Given the description of an element on the screen output the (x, y) to click on. 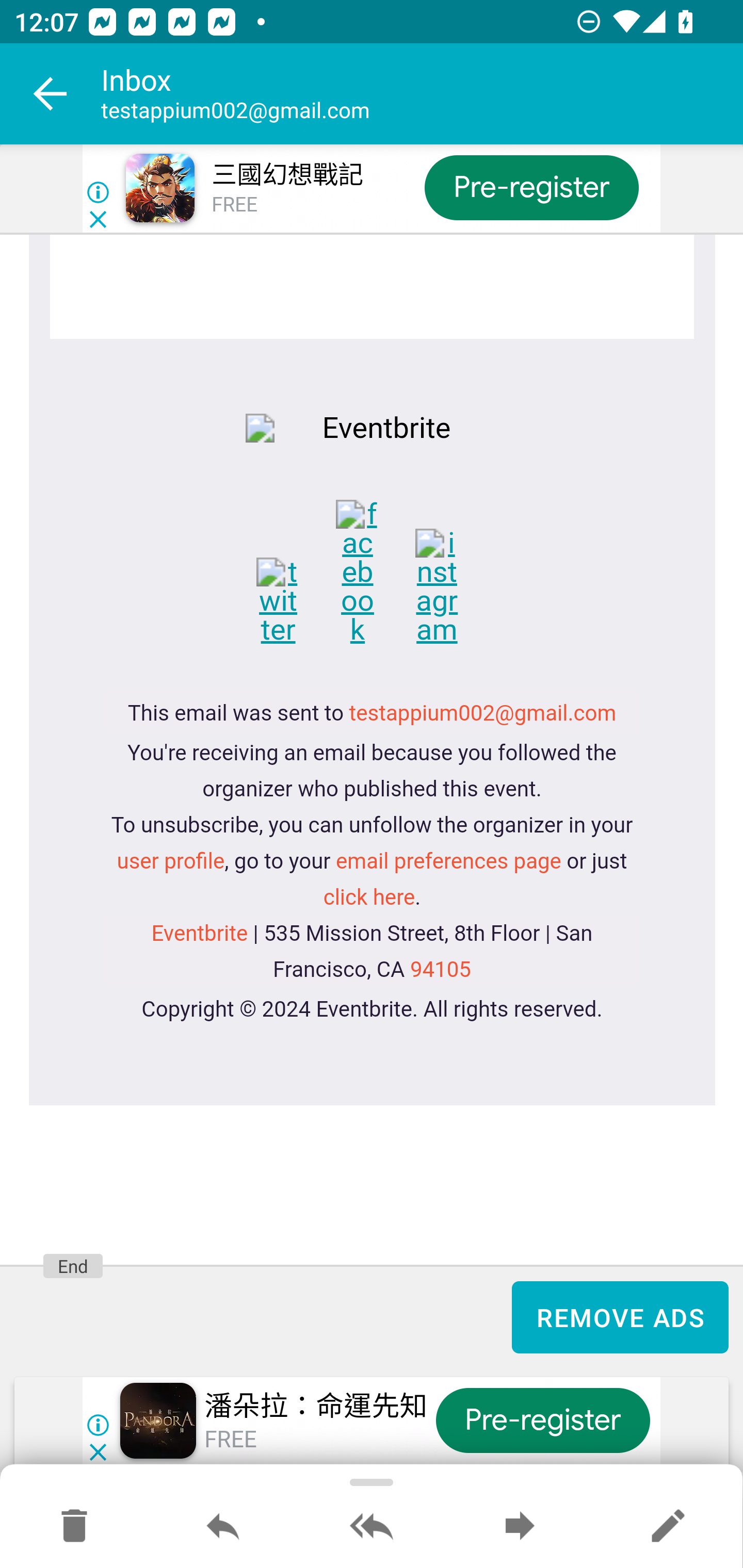
Navigate up (50, 93)
Inbox testappium002@gmail.com (422, 93)
Pre-register (530, 187)
三國幻想戰記 (287, 175)
Eventbrite's Facebook facebook (372, 571)
Eventbrite's Instagram instagram (450, 586)
Eventbrite's Twitter twitter (292, 600)
testappium002@gmail.com (482, 713)
user profile (170, 861)
email preferences page (448, 861)
click here (368, 897)
Eventbrite (198, 933)
94105 (439, 969)
REMOVE ADS (619, 1317)
潘朵拉：命運先知 (316, 1406)
Pre-register (542, 1420)
Move to Deleted (74, 1527)
Reply (222, 1527)
Reply all (371, 1527)
Forward (519, 1527)
Reply as new (667, 1527)
